Given the description of an element on the screen output the (x, y) to click on. 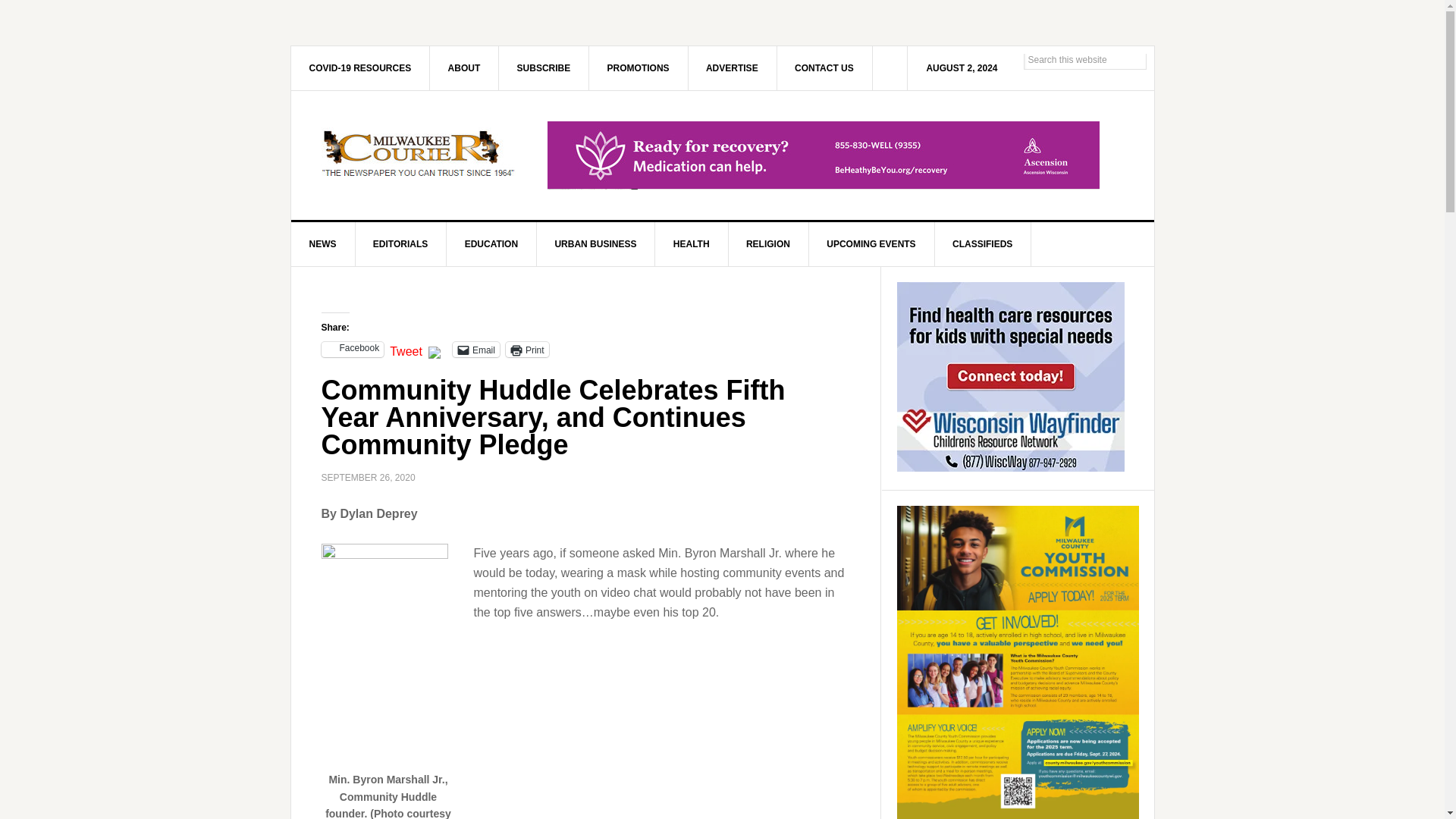
CONTACT US (824, 67)
ABOUT (464, 67)
Tweet (406, 348)
UPCOMING EVENTS (871, 243)
Click to share on Facebook (352, 349)
MILWAUKEE COURIER WEEKLY NEWSPAPER (419, 155)
Click to email a link to a friend (475, 349)
Search this website (1085, 59)
URBAN BUSINESS (595, 243)
